Given the description of an element on the screen output the (x, y) to click on. 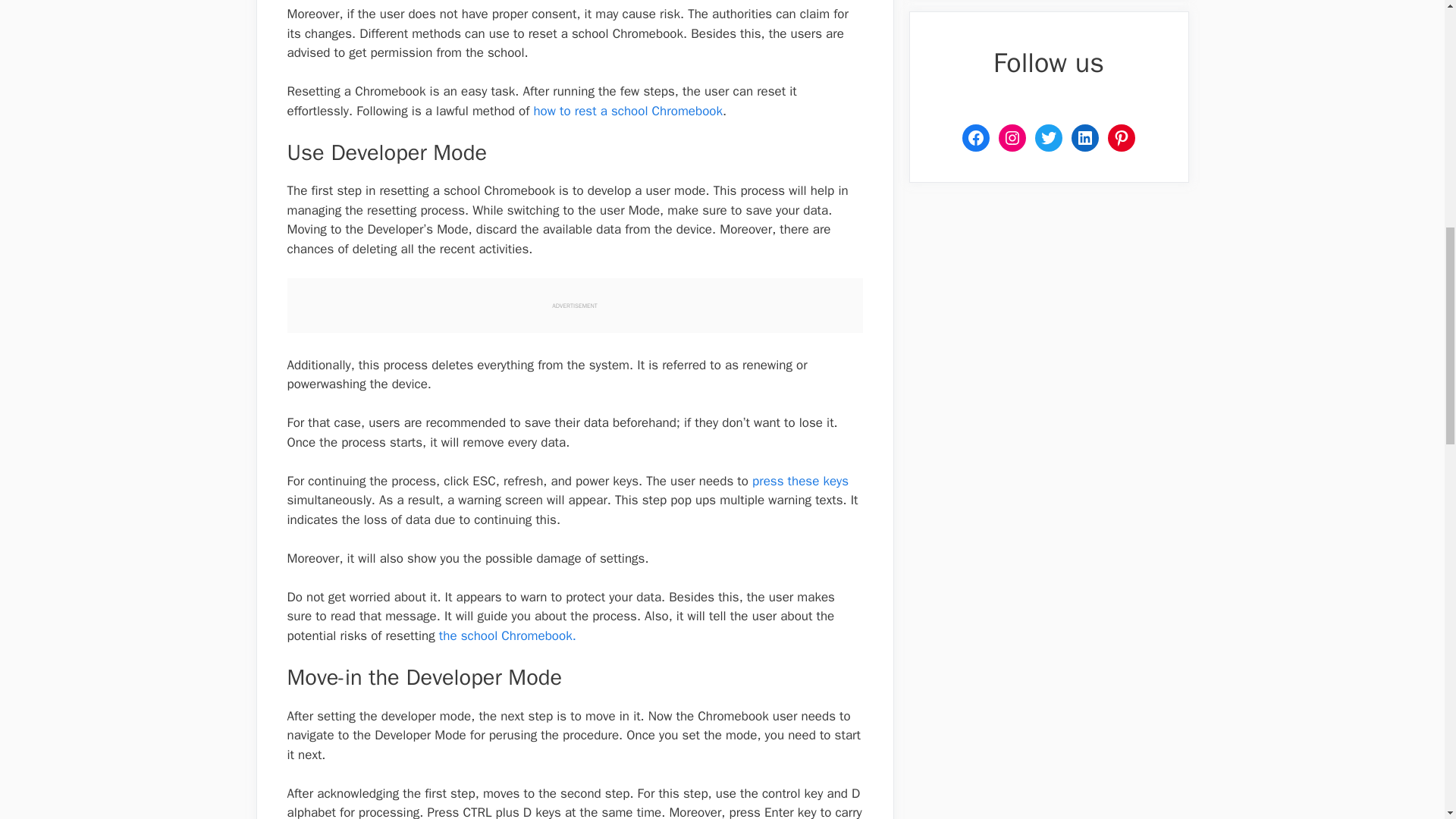
how to rest a school Chromebook (627, 110)
Twitter (1048, 137)
Instagram (1012, 137)
LinkedIn (1085, 137)
press these keys (800, 480)
the school Chromebook. (507, 635)
Pinterest (1121, 137)
Scroll back to top (1406, 720)
Facebook (976, 137)
